Given the description of an element on the screen output the (x, y) to click on. 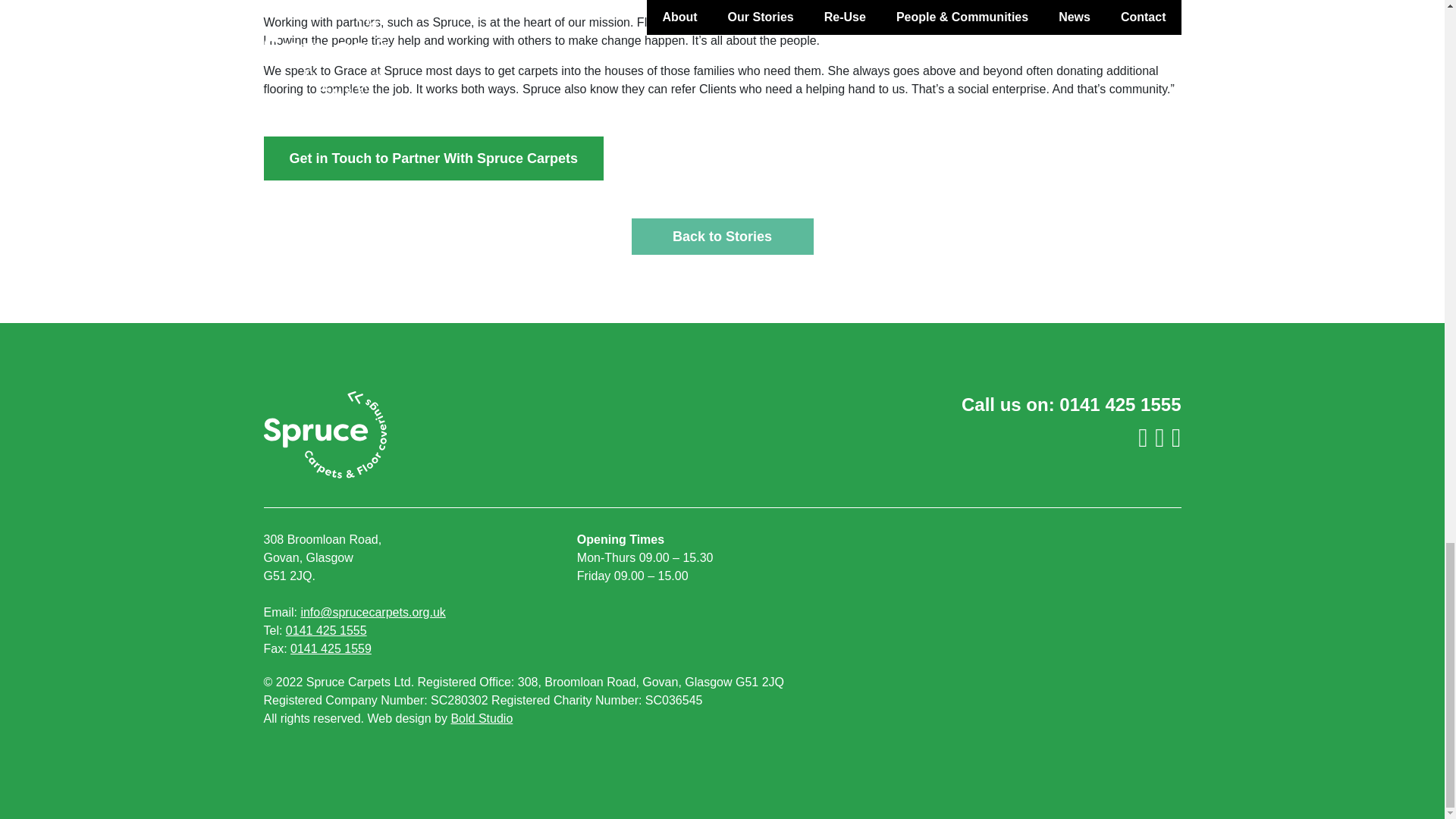
Back to Stories (721, 236)
0141 425 1559 (330, 648)
Bold Studio (480, 717)
0141 425 1555 (1119, 403)
0141 425 1555 (325, 630)
Get in Touch to Partner With Spruce Carpets (433, 158)
